Given the description of an element on the screen output the (x, y) to click on. 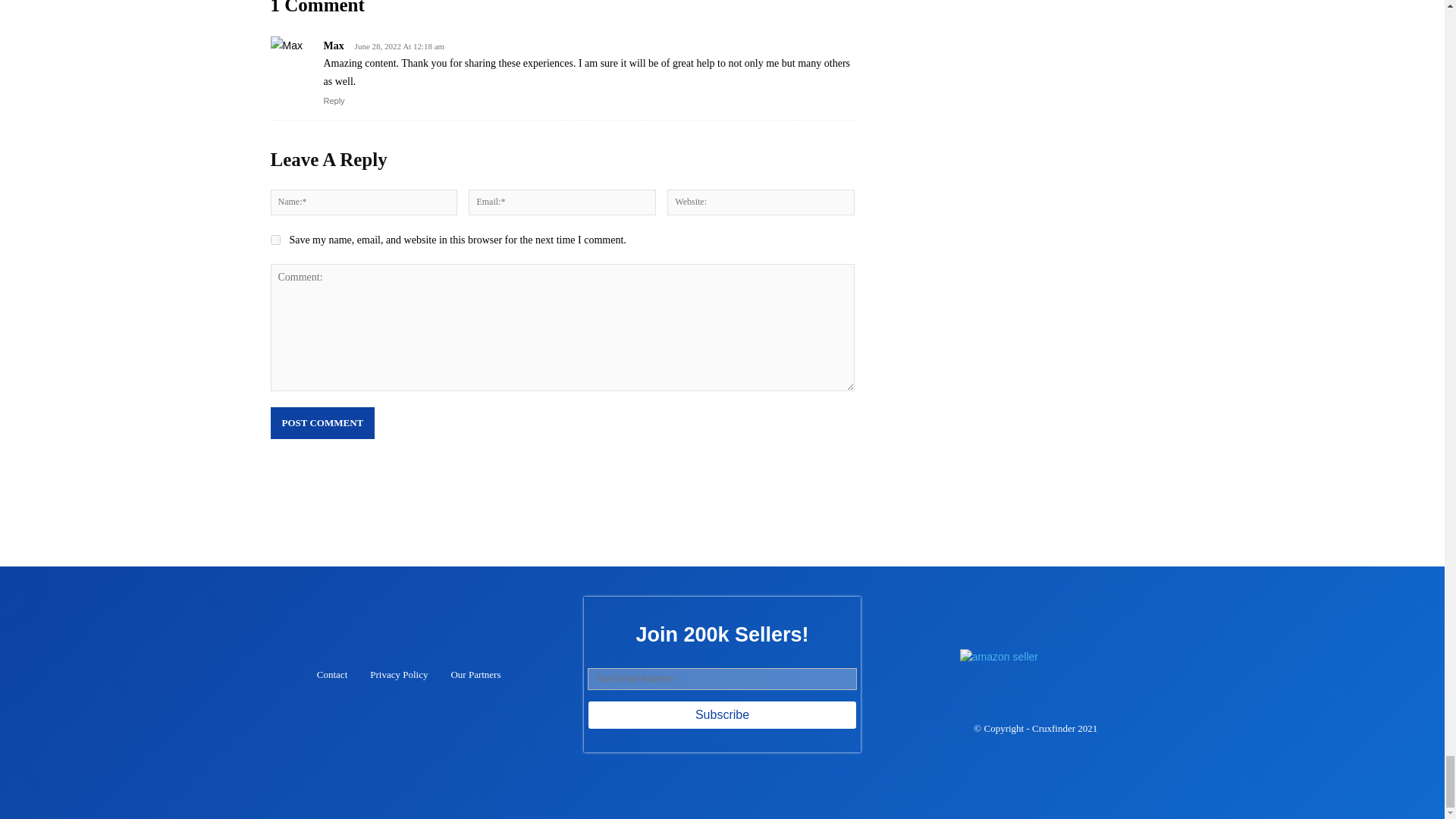
Subscribe (722, 715)
Post Comment (321, 422)
yes (274, 239)
